Given the description of an element on the screen output the (x, y) to click on. 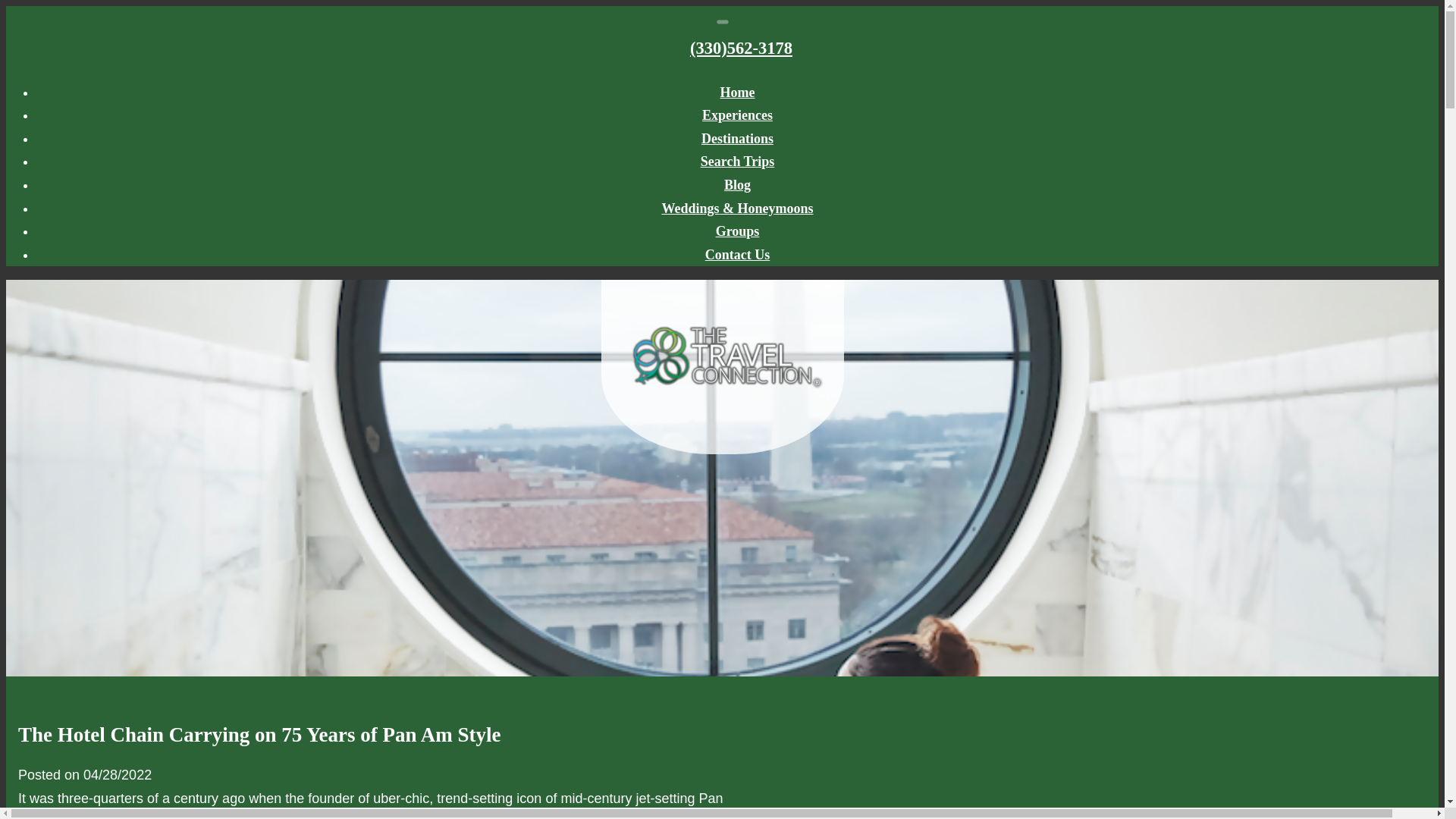
Experiences (737, 115)
Destinations (737, 138)
Search Trips (737, 161)
Contact Us (737, 254)
Groups (738, 231)
Home (737, 92)
Toggle navigation (722, 21)
